Given the description of an element on the screen output the (x, y) to click on. 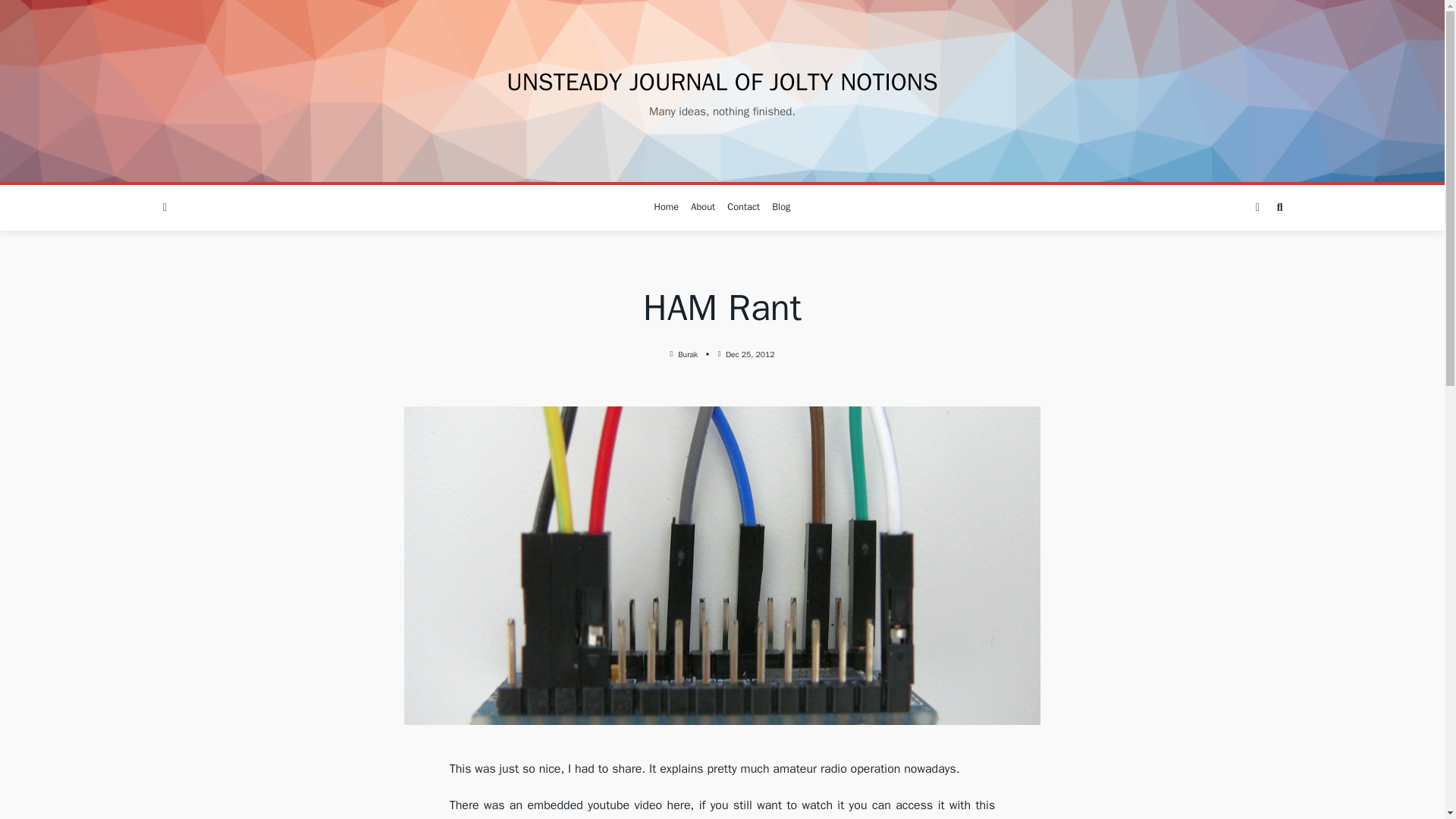
About (702, 207)
UNSTEADY JOURNAL OF JOLTY NOTIONS (721, 81)
Home (666, 207)
Contact (742, 207)
Dec 25, 2012 (749, 354)
Blog (780, 207)
Burak (687, 354)
